Given the description of an element on the screen output the (x, y) to click on. 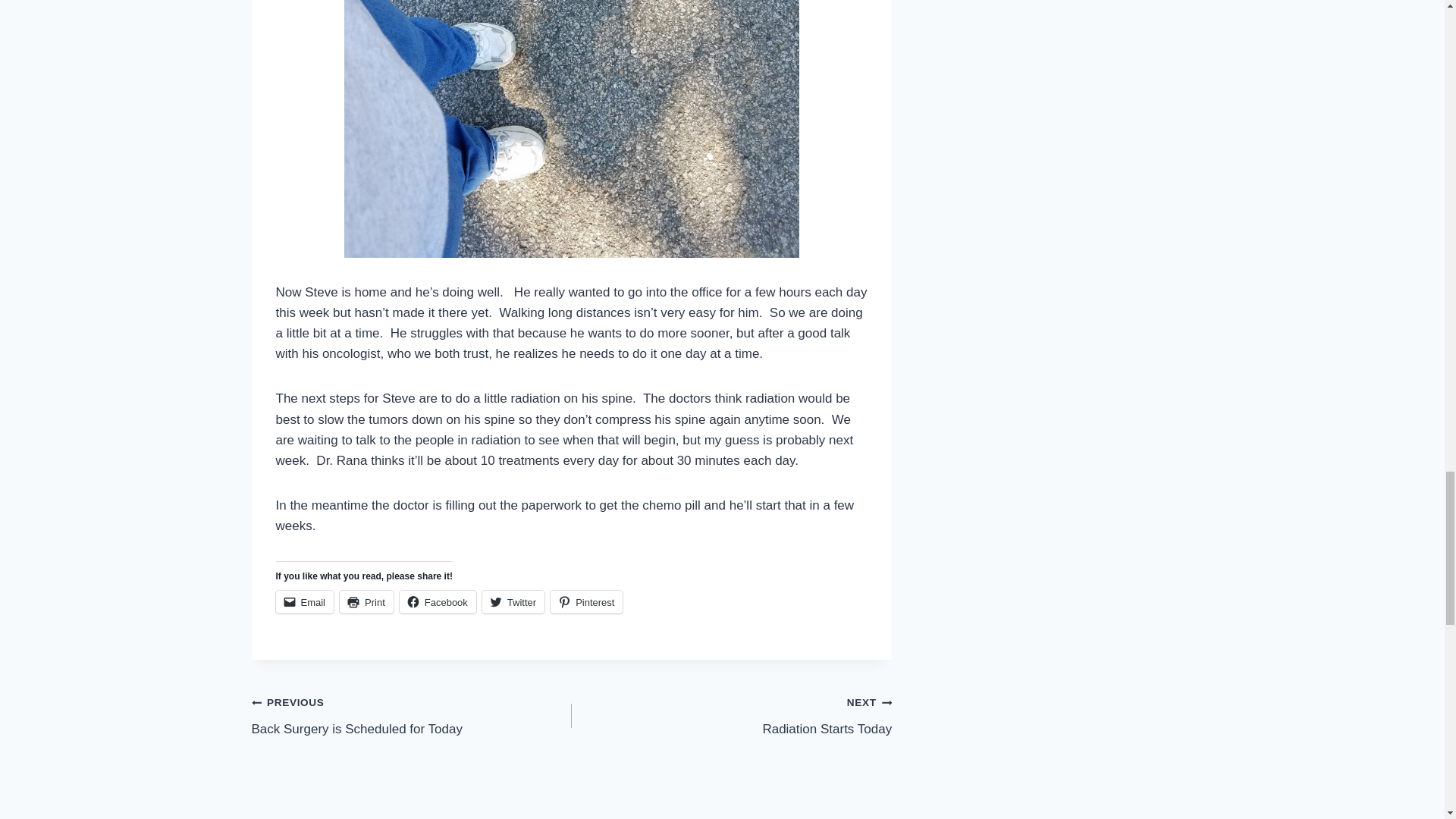
Facebook (437, 601)
Click to print (731, 715)
Pinterest (366, 601)
Twitter (586, 601)
Email (512, 601)
Click to share on Twitter (305, 601)
Print (512, 601)
Click to share on Pinterest (411, 715)
Click to share on Facebook (366, 601)
Click to email a link to a friend (586, 601)
